Given the description of an element on the screen output the (x, y) to click on. 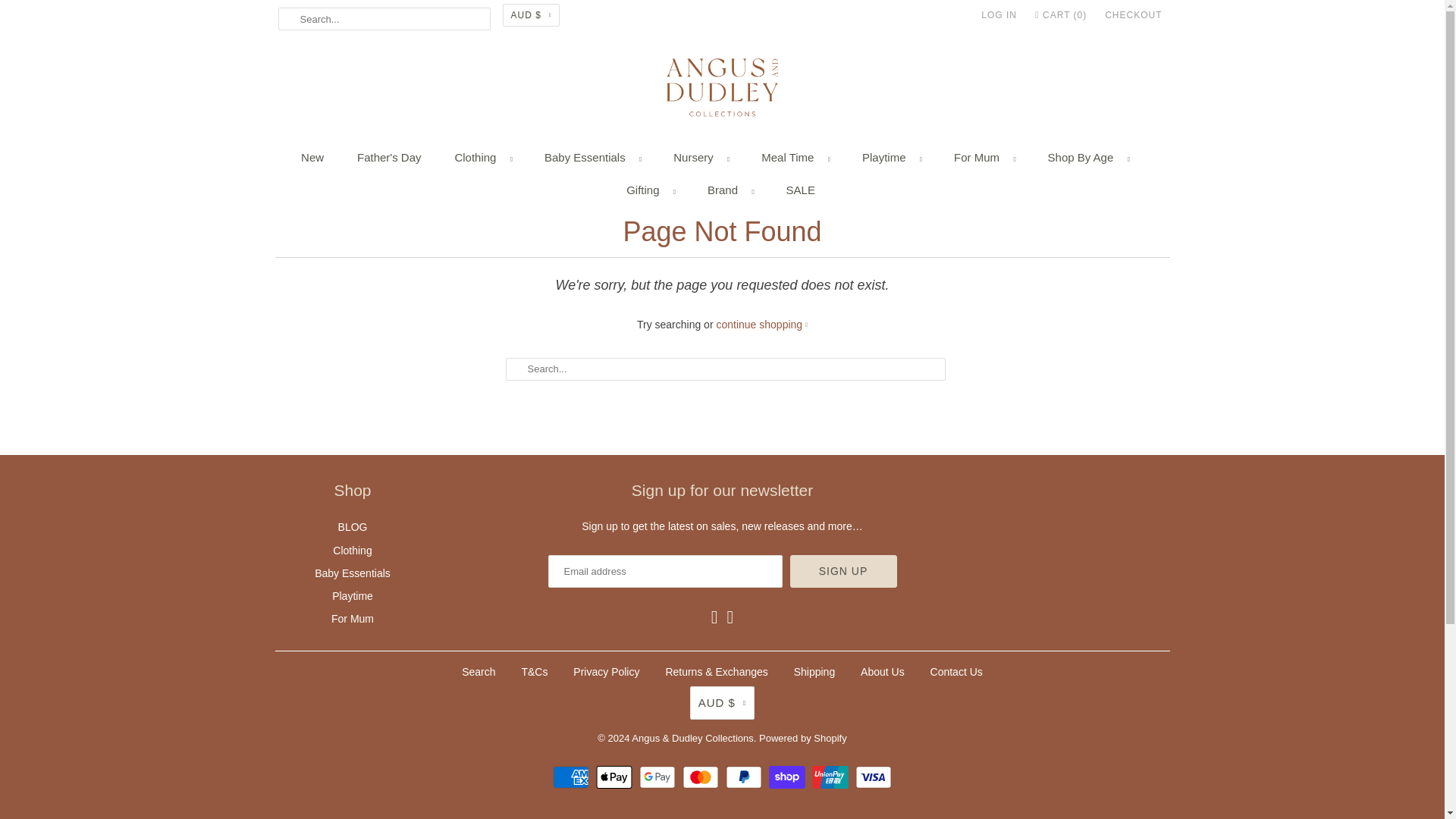
LOG IN (998, 15)
American Express (572, 776)
Mastercard (702, 776)
CHECKOUT (1133, 15)
Apple Pay (615, 776)
Google Pay (659, 776)
Father's Day (389, 157)
Clothing  (482, 157)
Shop Pay (788, 776)
Sign Up (843, 571)
